Given the description of an element on the screen output the (x, y) to click on. 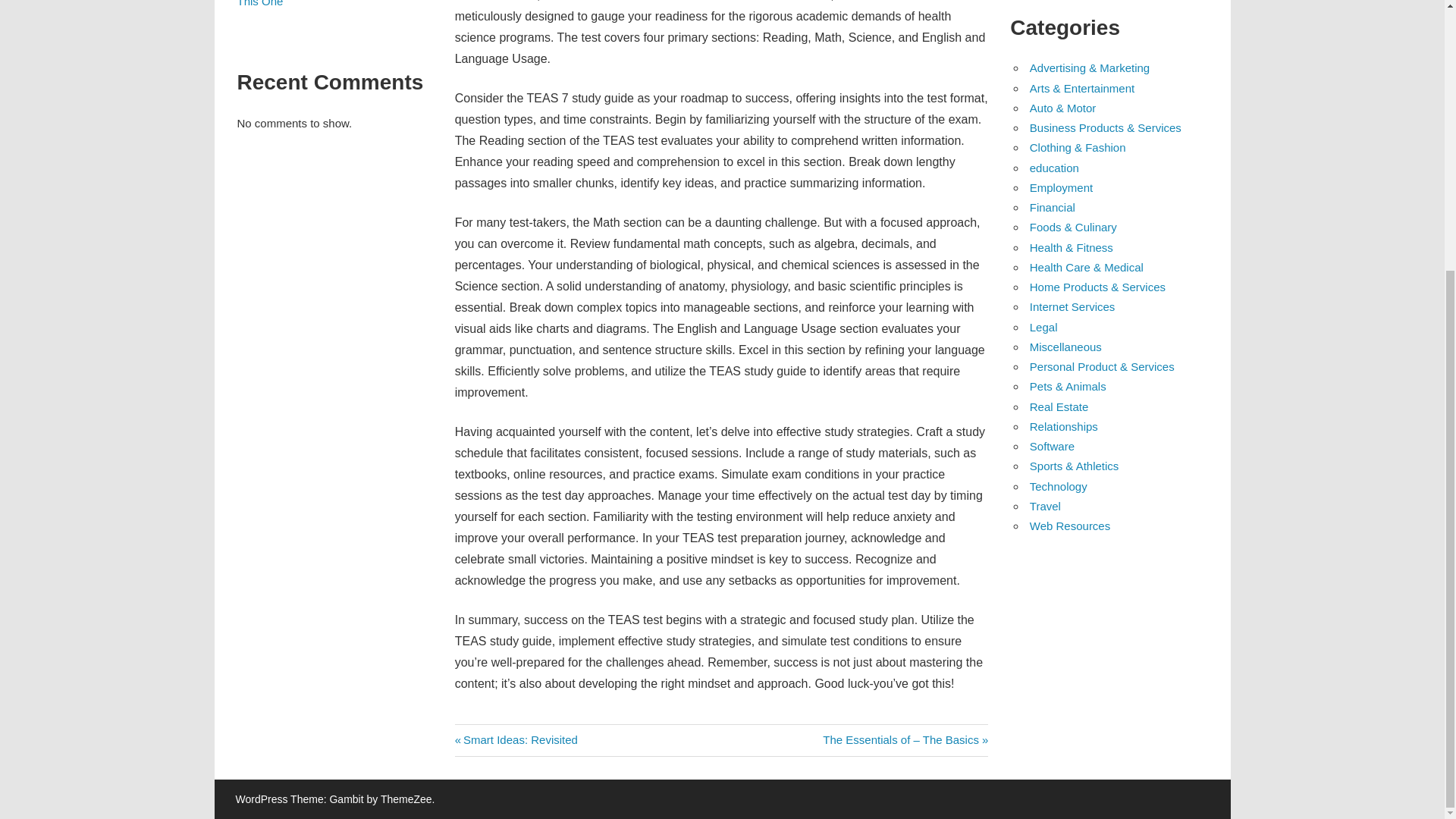
Miscellaneous (1065, 346)
education (1053, 167)
Employment (1061, 187)
Legal (1043, 327)
If You Read One Article About , Read This One (329, 3)
Internet Services (1072, 306)
Financial (1052, 206)
